Given the description of an element on the screen output the (x, y) to click on. 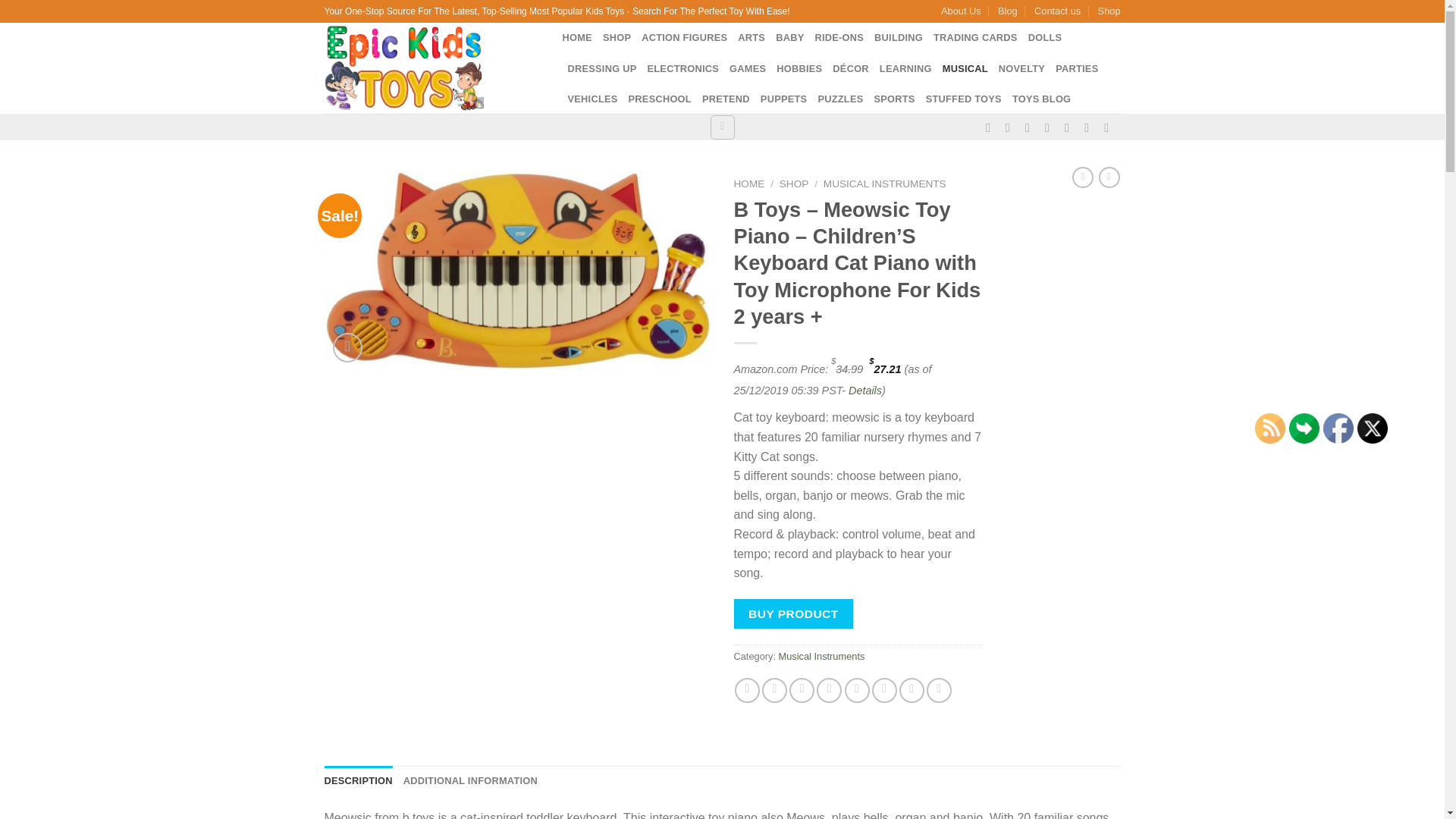
HOME (577, 37)
PRETEND (725, 99)
GAMES (747, 69)
PUZZLES (839, 99)
PRESCHOOL (659, 99)
ACTION FIGURES (684, 37)
Follow on Facebook (991, 127)
Share on Facebook (747, 690)
TRADING CARDS (975, 37)
Contact us (1056, 11)
